Given the description of an element on the screen output the (x, y) to click on. 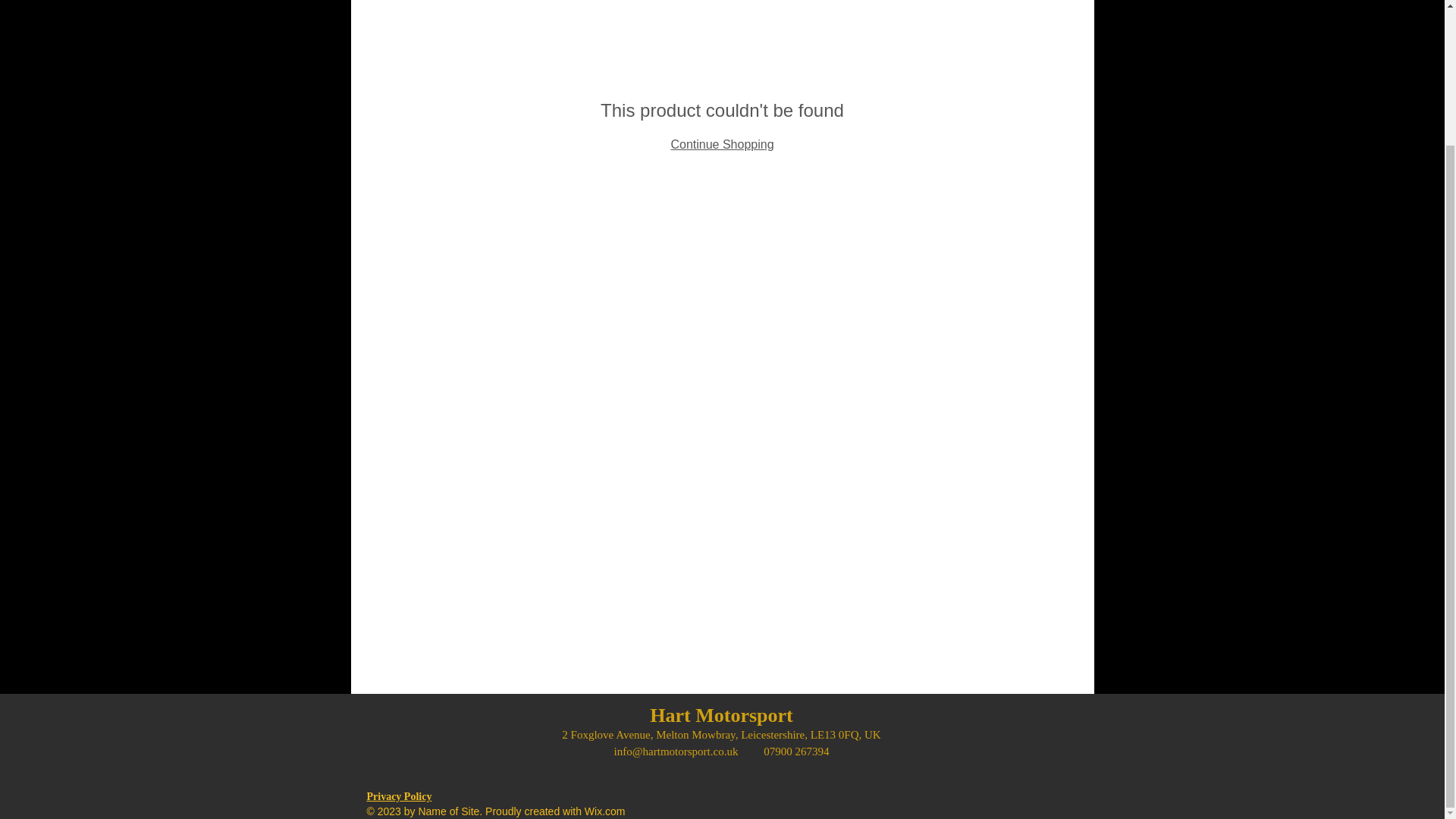
Privacy Policy (399, 796)
Wix.com (605, 811)
Continue Shopping (721, 144)
